Given the description of an element on the screen output the (x, y) to click on. 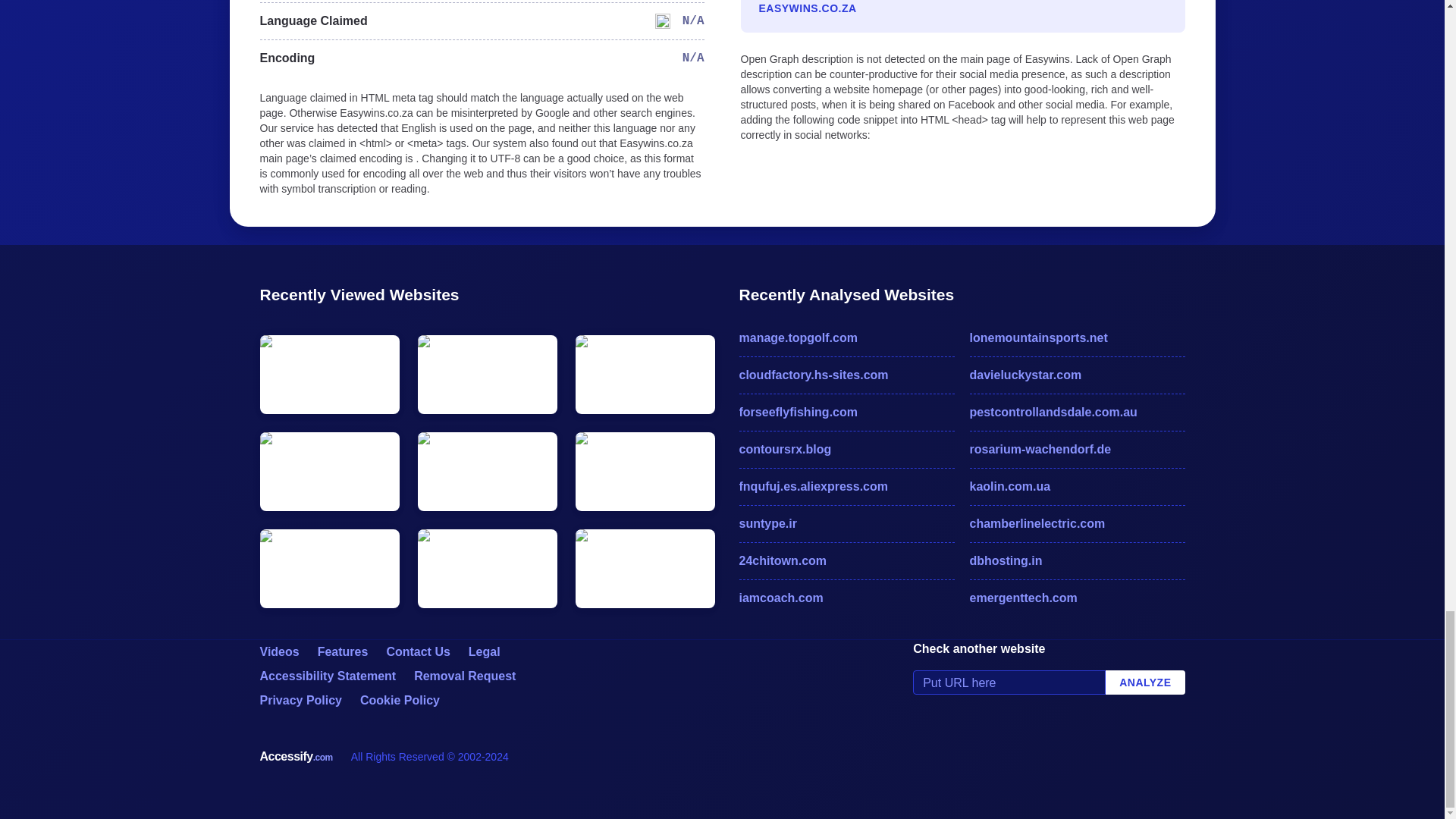
suntype.ir (845, 524)
Features (342, 651)
chamberlinelectric.com (1077, 524)
contoursrx.blog (845, 449)
forseeflyfishing.com (845, 412)
emergenttech.com (1077, 597)
dbhosting.in (1077, 561)
Screencasts: video tutorials and guides (278, 651)
Videos (278, 651)
Contact Us (417, 651)
fnqufuj.es.aliexpress.com (845, 486)
Legal (484, 651)
rosarium-wachendorf.de (1077, 449)
cloudfactory.hs-sites.com (845, 375)
pestcontrollandsdale.com.au (1077, 412)
